Given the description of an element on the screen output the (x, y) to click on. 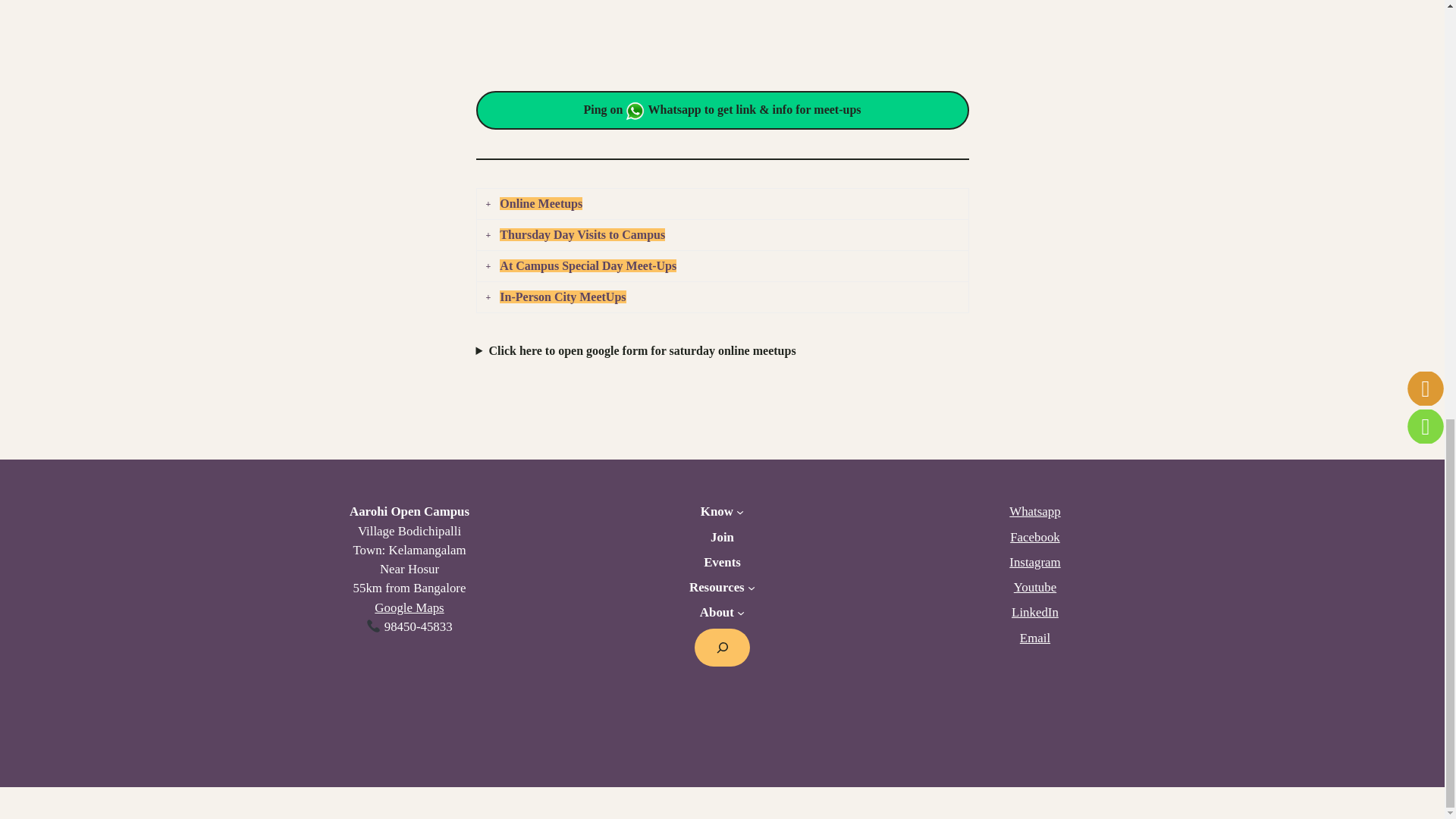
Online Meetups (721, 203)
In-Person City MeetUps (721, 297)
Know (716, 511)
Google Maps (409, 607)
Thursday Day Visits to Campus (721, 235)
At Campus Special Day Meet-Ups (721, 266)
